Given the description of an element on the screen output the (x, y) to click on. 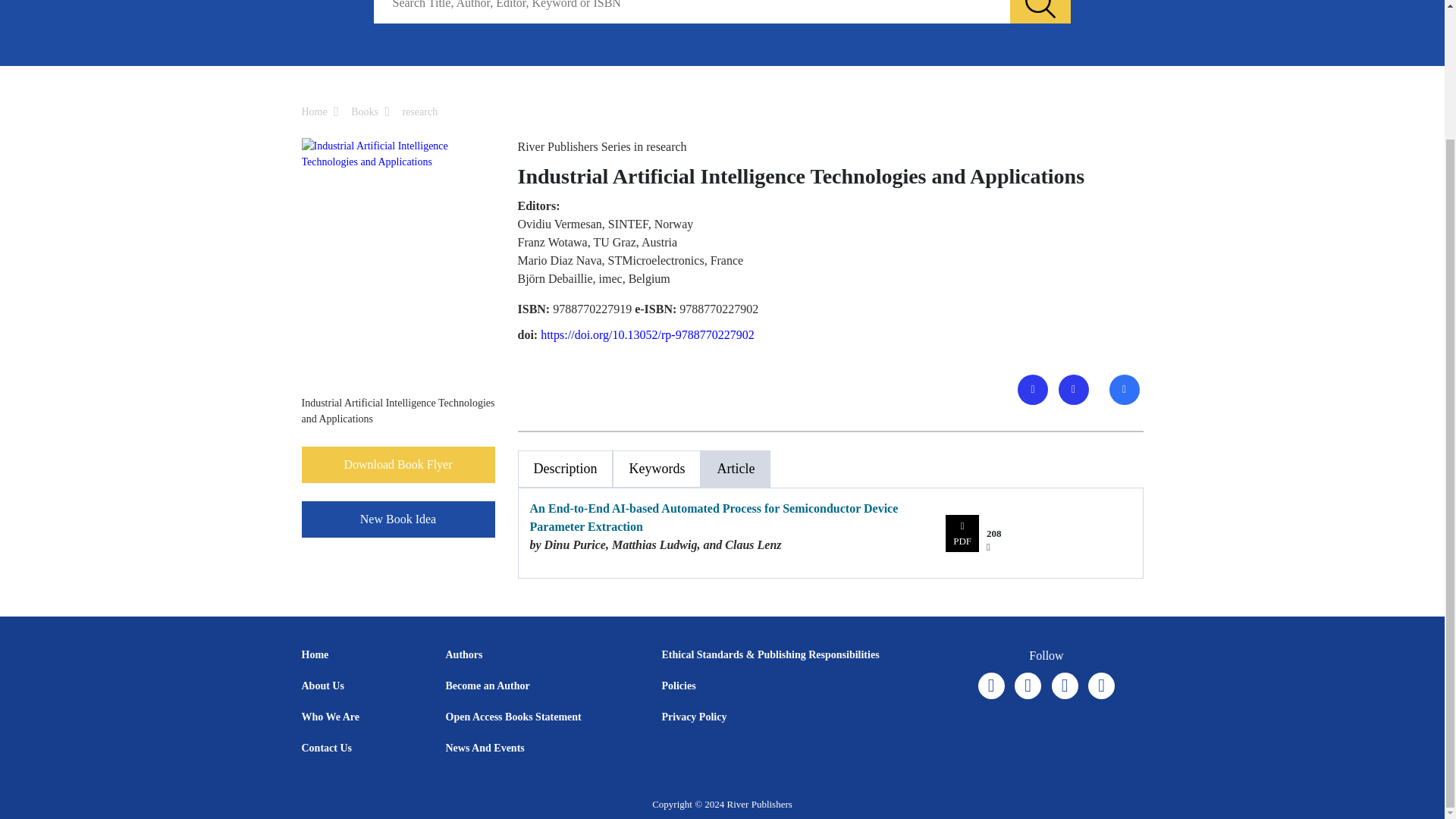
Books (364, 111)
New Book Idea (398, 519)
PDF (961, 533)
Home (314, 111)
research (420, 111)
Article (735, 468)
Download Book Flyer (398, 464)
Keywords (656, 468)
Description (564, 468)
